Given the description of an element on the screen output the (x, y) to click on. 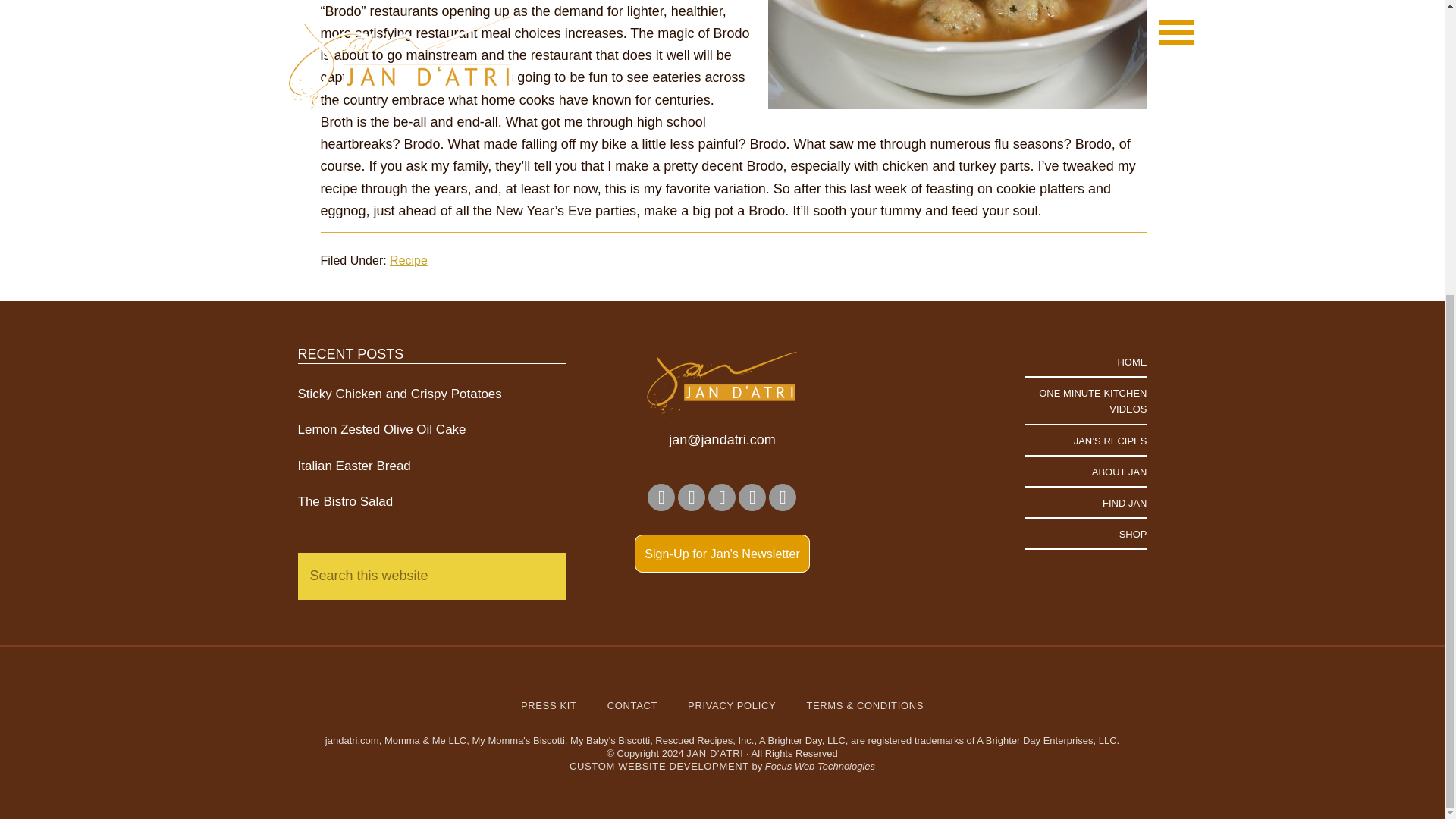
Lemon Zested Olive Oil Cake (381, 429)
Sticky Chicken and Crispy Potatoes (398, 393)
Recipe (409, 259)
Jan D'Atri Logo (721, 384)
Twitter (782, 497)
Pinterest (721, 497)
Facebook (661, 497)
Instagram (691, 497)
The Bistro Salad (345, 501)
YouTube (751, 497)
Italian Easter Bread (353, 465)
